Given the description of an element on the screen output the (x, y) to click on. 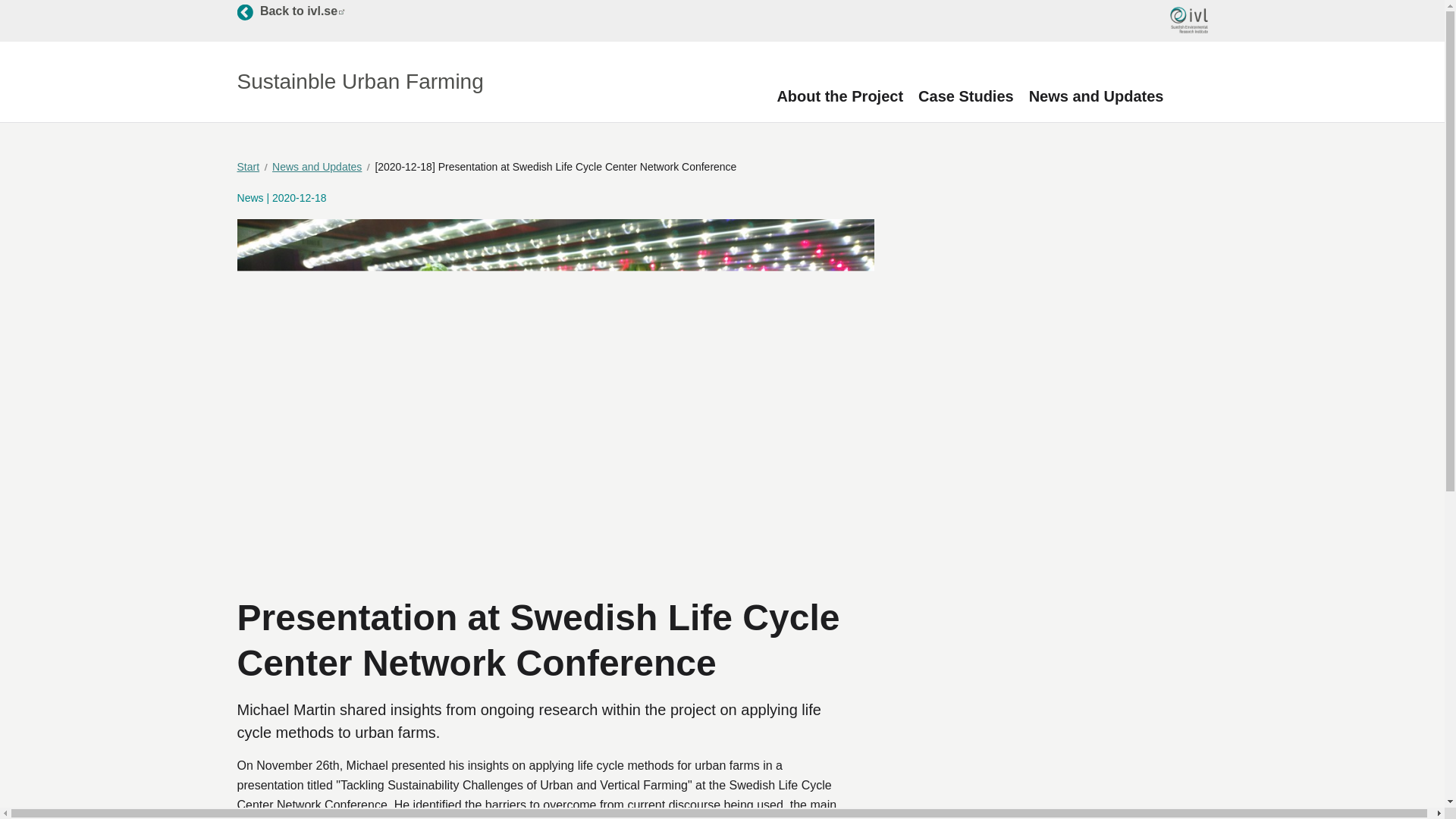
Accept all cookies (97, 763)
Read our cookie policy (82, 718)
Sustainble Urban Farming (359, 82)
Case Studies (965, 95)
Accept necessary cookies (285, 763)
About the Project (839, 95)
Start (251, 166)
News and Updates (290, 11)
News and Updates (321, 166)
Settings (1096, 95)
